Given the description of an element on the screen output the (x, y) to click on. 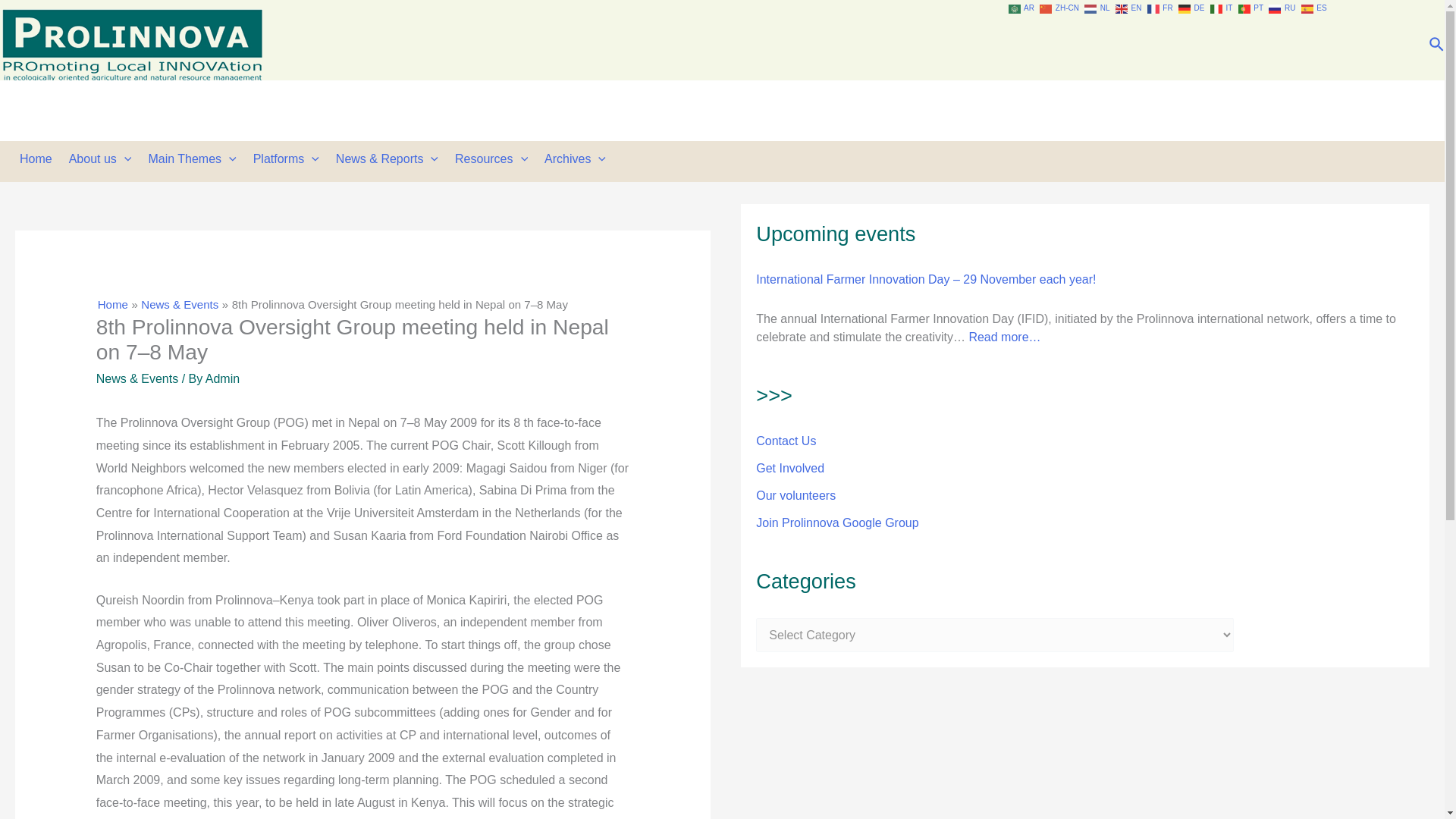
German (1192, 7)
About us (104, 158)
Portuguese (1252, 7)
Spanish (1315, 7)
English (1128, 7)
Italian (1221, 7)
French (1160, 7)
Dutch (1098, 7)
View all posts by Admin (222, 378)
Arabic (1022, 7)
Main Themes (194, 158)
Home (39, 158)
Russian (1282, 7)
